Given the description of an element on the screen output the (x, y) to click on. 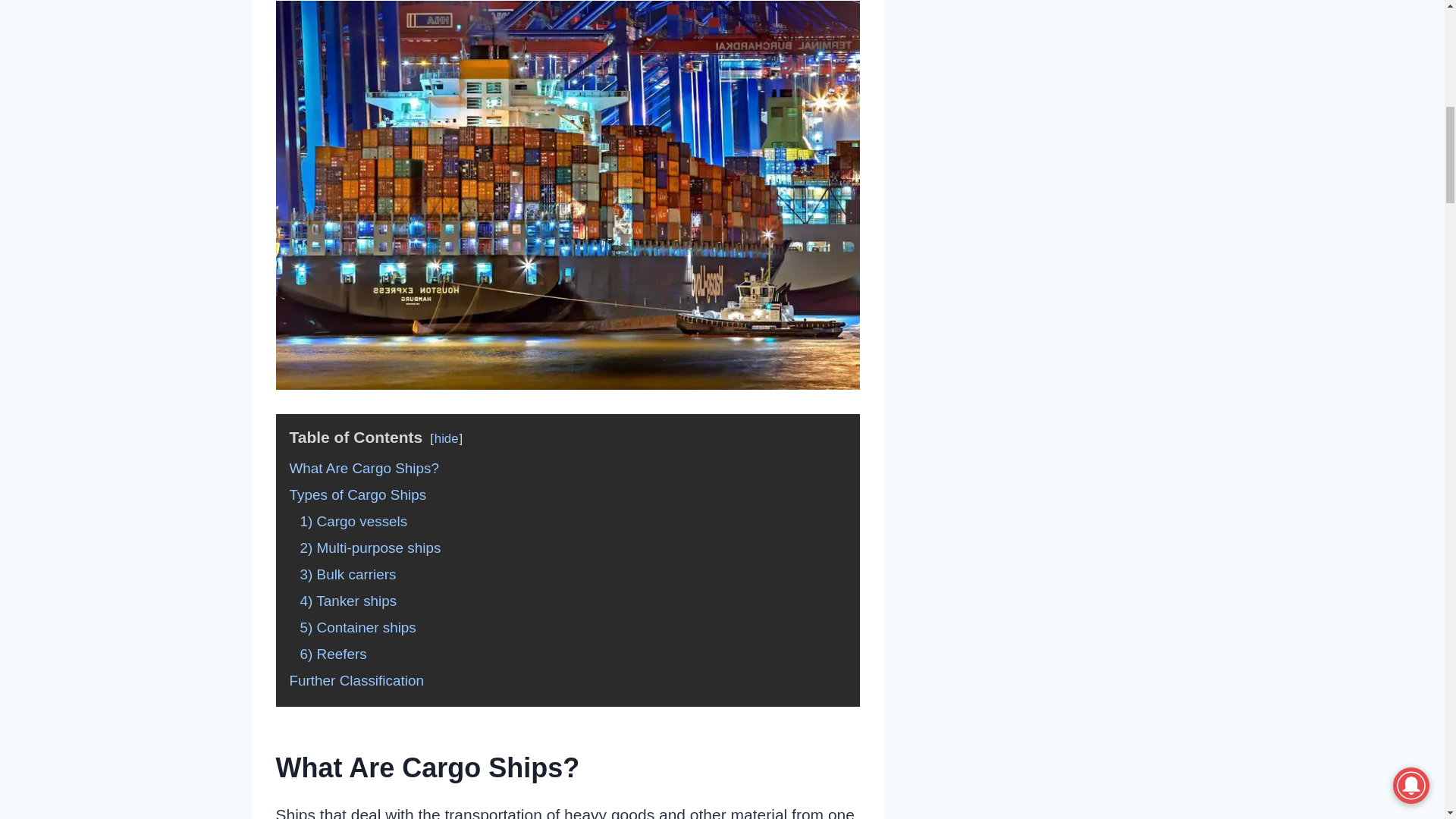
Types of Cargo Ships (357, 494)
Further Classification (356, 680)
hide (445, 438)
What Are Cargo Ships? (364, 467)
